Given the description of an element on the screen output the (x, y) to click on. 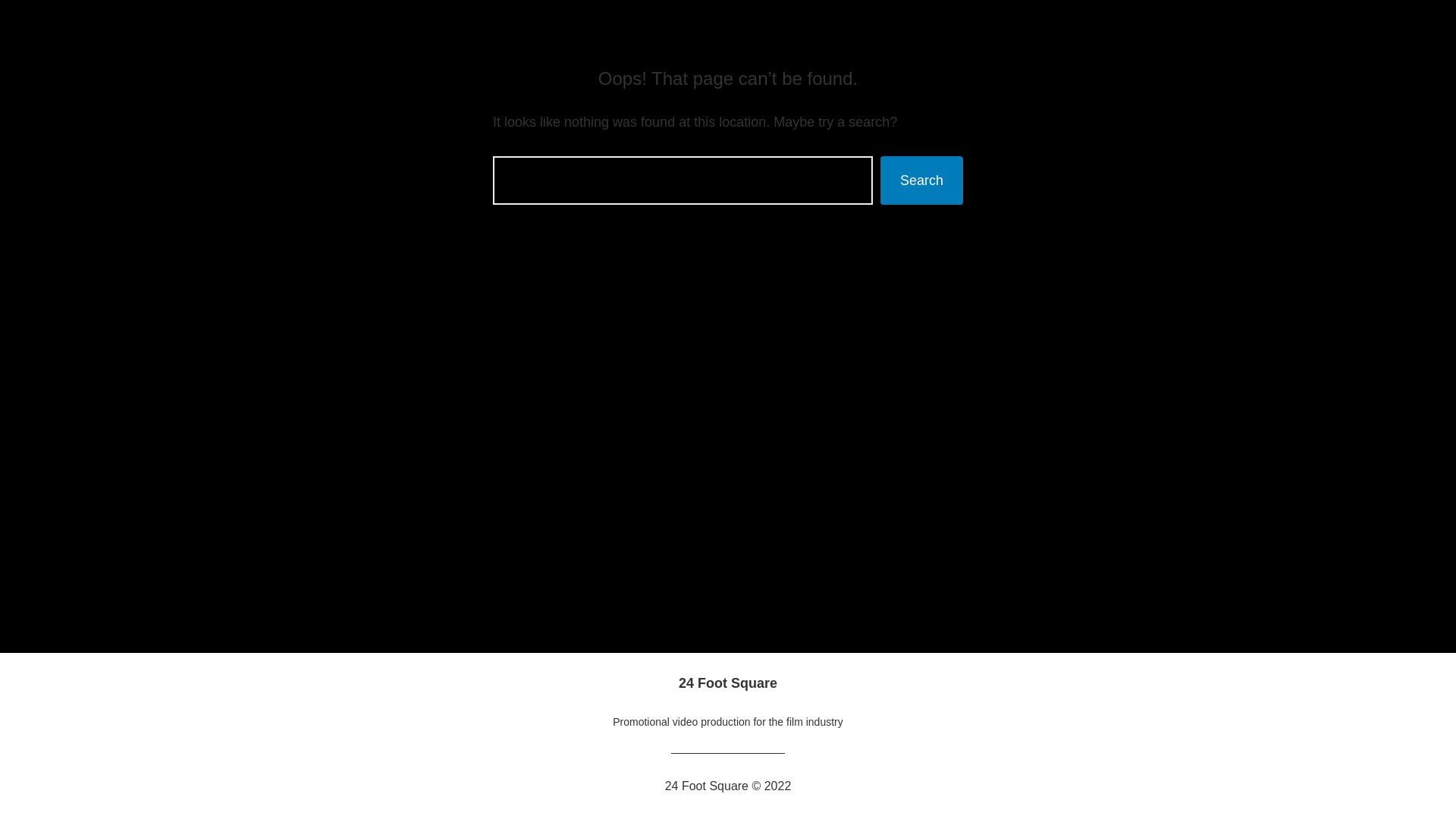
Search Element type: text (921, 180)
24 Foot Square Element type: text (727, 682)
